Given the description of an element on the screen output the (x, y) to click on. 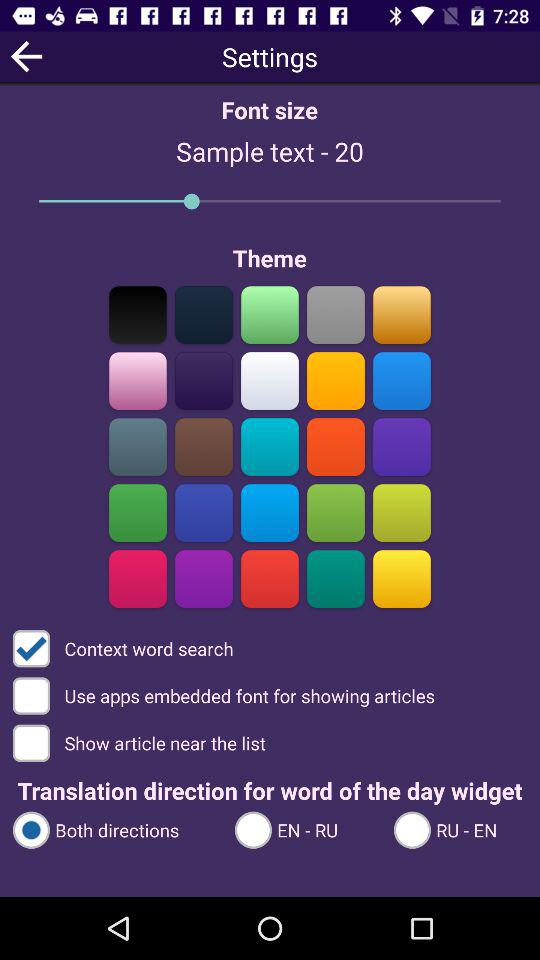
theme color blue (401, 380)
